Given the description of an element on the screen output the (x, y) to click on. 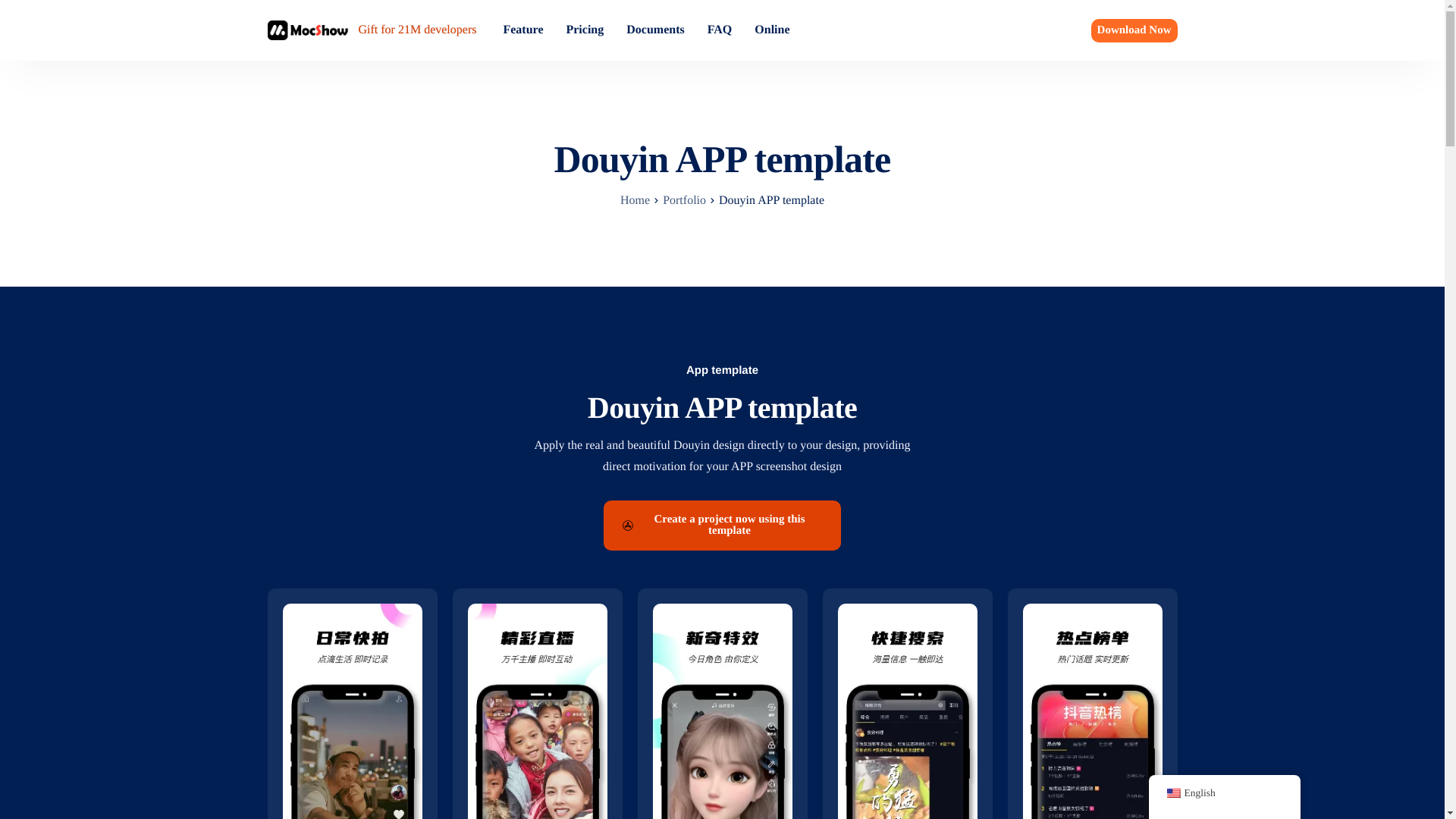
Portfolio (684, 200)
Feature (522, 30)
Documents (655, 30)
Online (771, 30)
FAQ (719, 30)
Pricing (585, 30)
Download Now (1133, 29)
Home (634, 200)
English (1172, 792)
Create a project now using this template (722, 525)
